Given the description of an element on the screen output the (x, y) to click on. 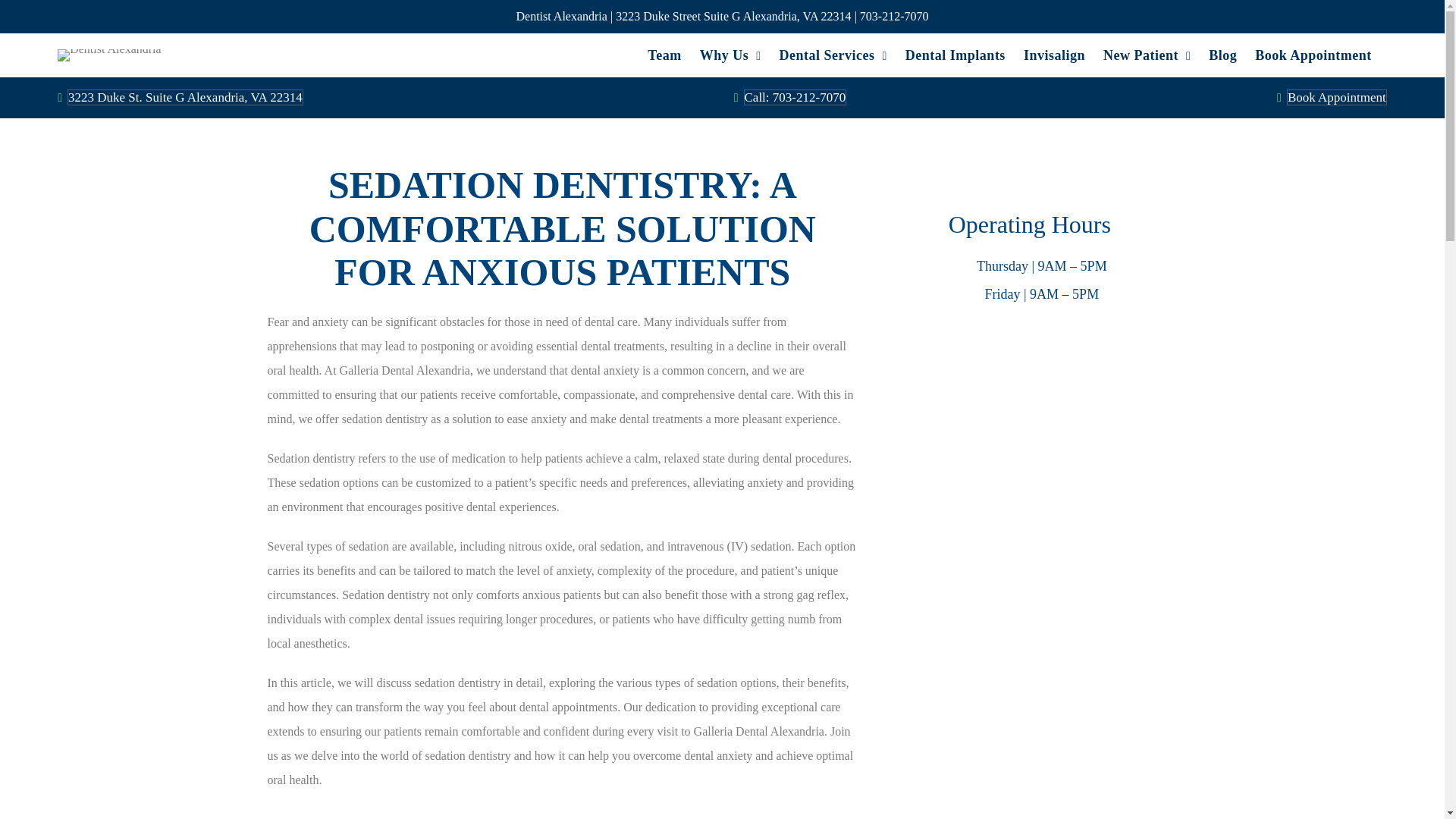
Blog (1222, 54)
3223 Duke Street Suite G Alexandria, VA 22314 (733, 15)
703-212-7070 (894, 15)
Dental Implants (955, 54)
Team (664, 54)
Invisalign (1053, 54)
Book Appointment (1337, 97)
3223 Duke St. Suite G Alexandria, VA 22314 (184, 97)
Call: 703-212-7070 (793, 97)
Why Us (730, 54)
